Given the description of an element on the screen output the (x, y) to click on. 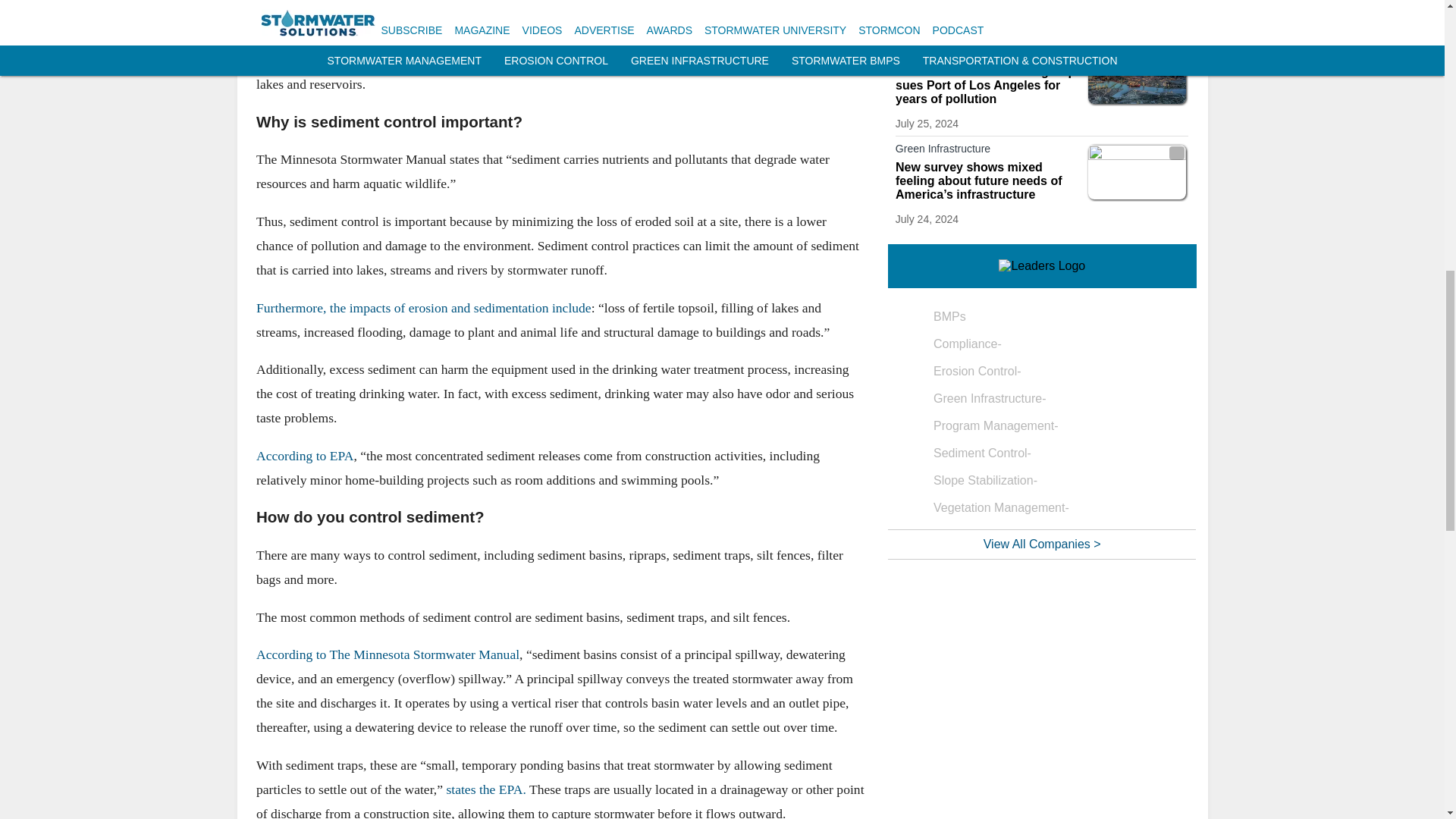
According to The Minnesota Stormwater Manual (387, 654)
states the EPA. (485, 789)
According to EPA (304, 455)
